Given the description of an element on the screen output the (x, y) to click on. 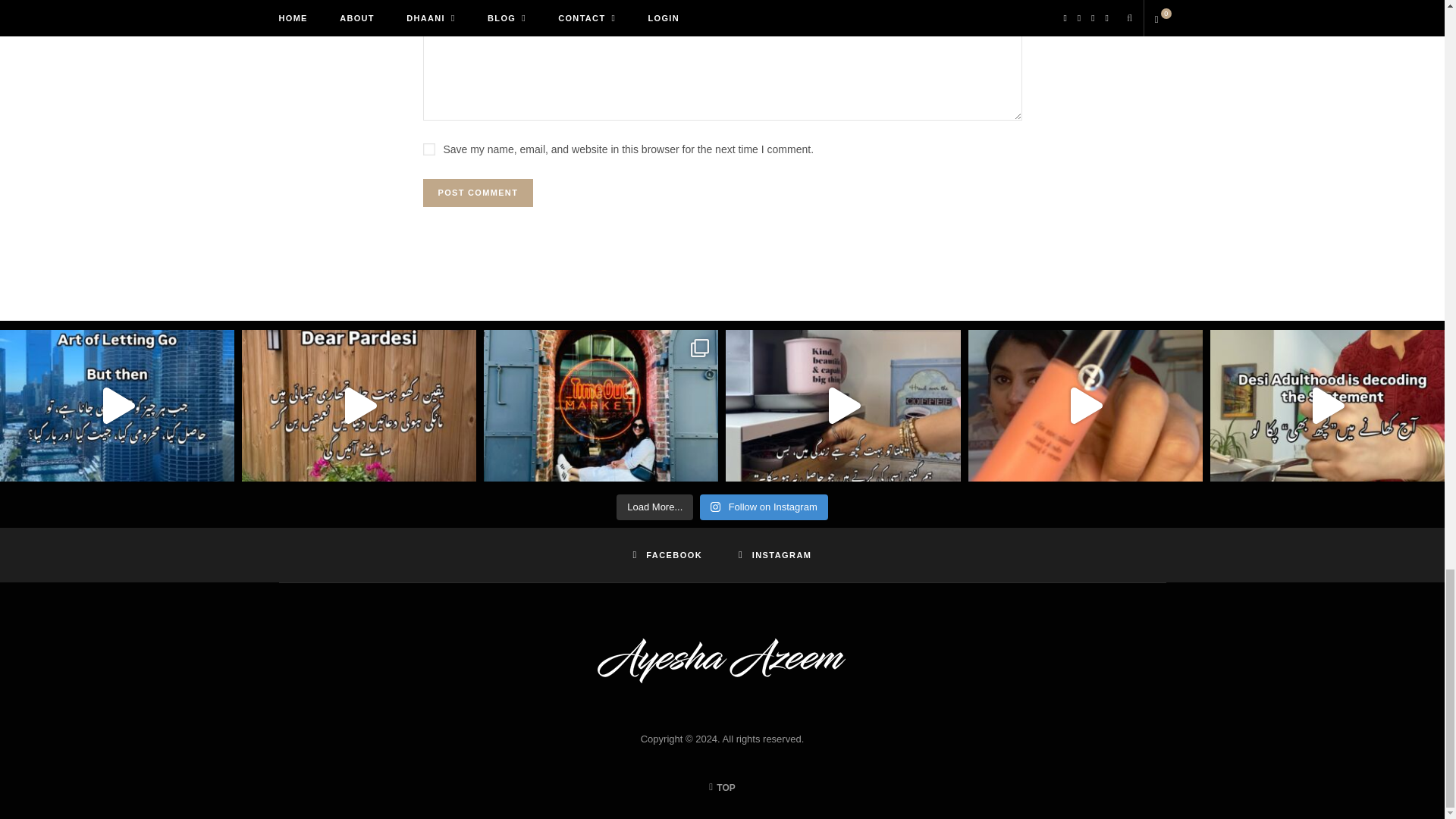
Post Comment (478, 193)
yes (429, 149)
